Given the description of an element on the screen output the (x, y) to click on. 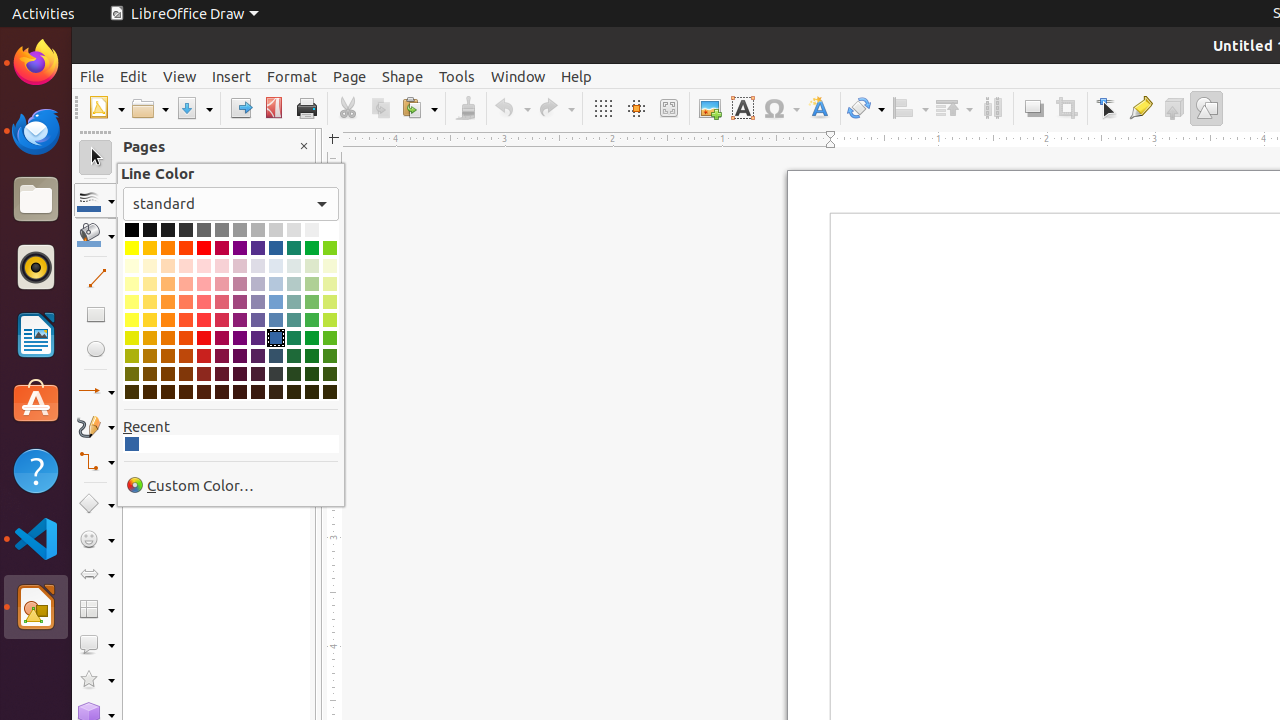
Light Teal 2 Element type: list-item (294, 302)
Light Indigo 1 Element type: list-item (258, 320)
Dark Red 4 Element type: list-item (204, 392)
Light Yellow 4 Element type: list-item (132, 266)
Zoom & Pan Element type: push-button (668, 108)
